Given the description of an element on the screen output the (x, y) to click on. 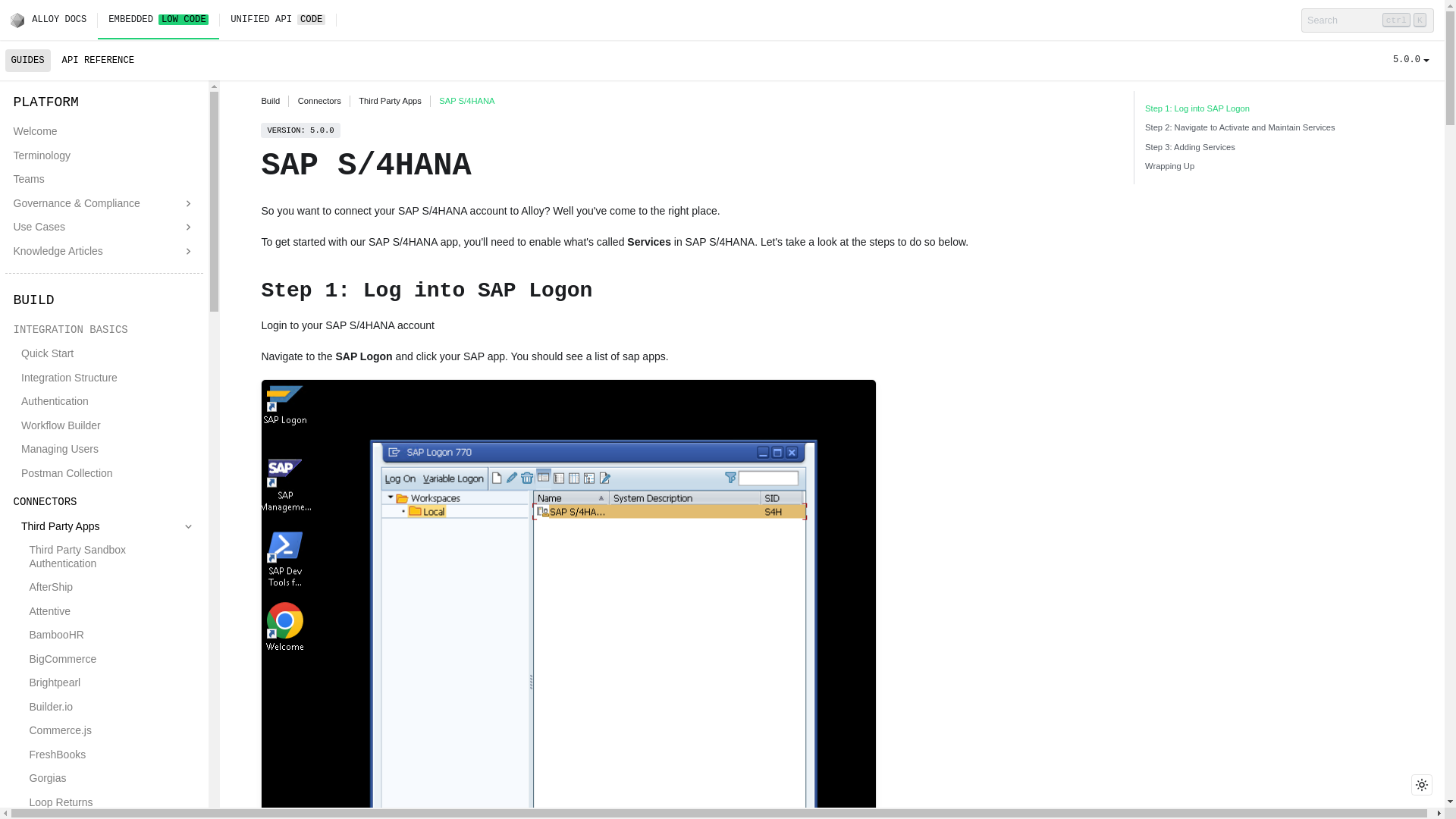
Third Party Sandbox Authentication (112, 556)
Welcome (104, 131)
Authentication (108, 401)
AfterShip (112, 587)
ALLOY DOCS (53, 19)
Workflow Builder (108, 425)
5.0.0 (1411, 59)
Postman Collection (108, 473)
BigCommerce (112, 659)
Brightpearl (112, 682)
